Given the description of an element on the screen output the (x, y) to click on. 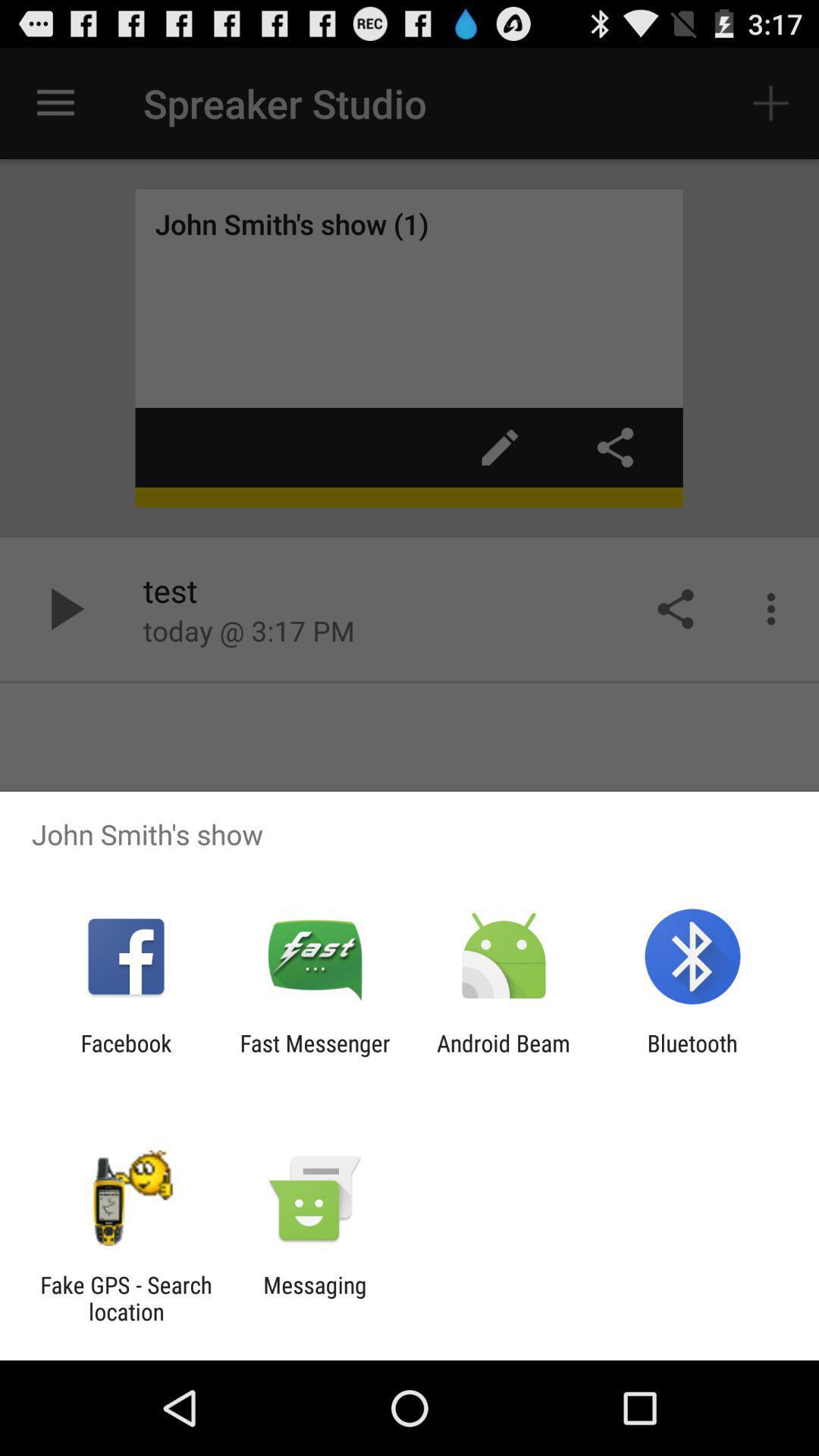
choose messaging icon (314, 1298)
